Given the description of an element on the screen output the (x, y) to click on. 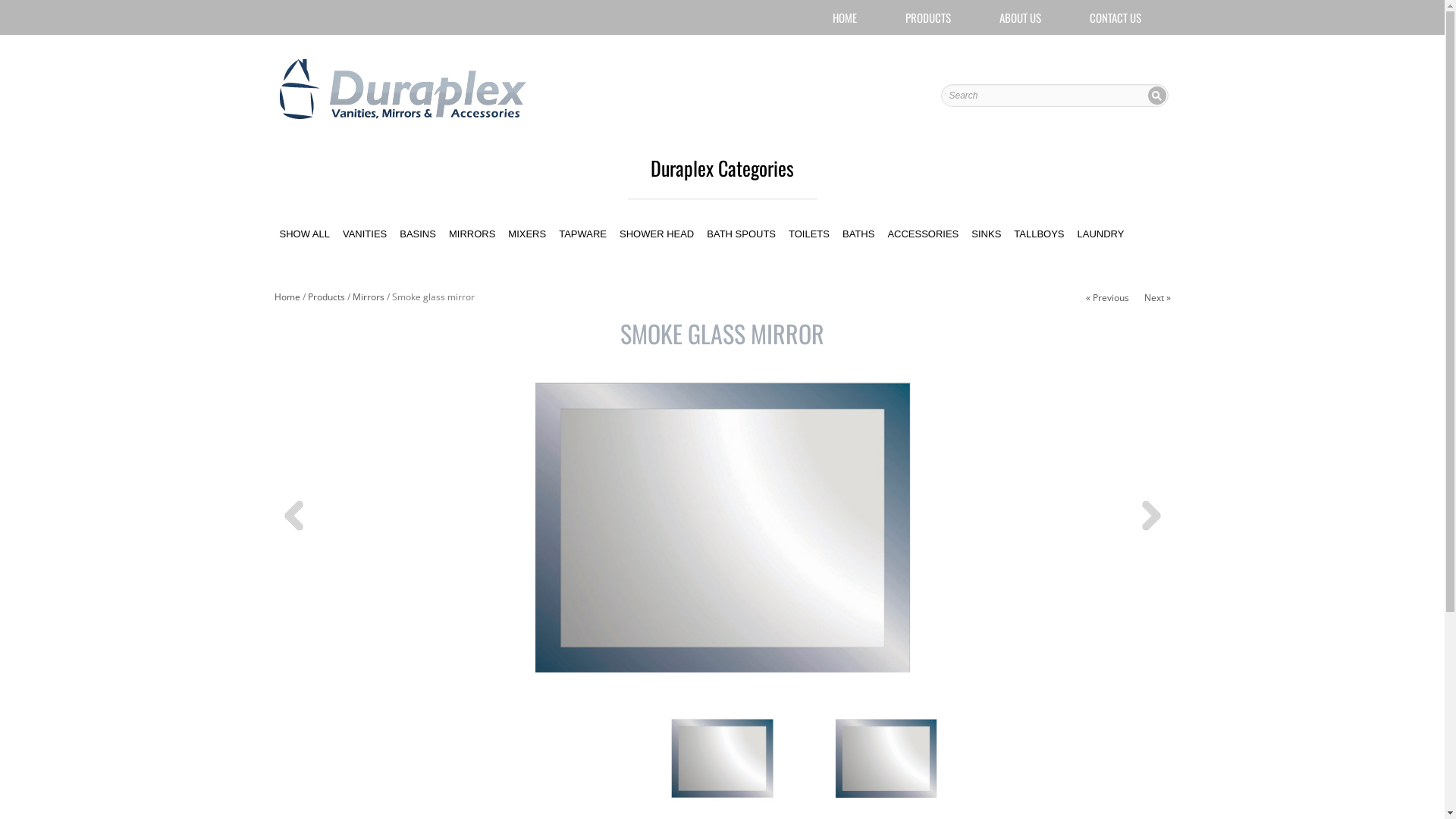
TOILETS Element type: text (808, 232)
ABOUT US Element type: text (1020, 17)
TOILETS Element type: text (808, 233)
SINKS Element type: text (986, 233)
ACCESSORIES Element type: text (922, 232)
MIXERS Element type: text (526, 232)
LAUNDRY Element type: text (1100, 233)
TALLBOYS Element type: text (1038, 232)
TAPWARE Element type: text (582, 232)
BATH SPOUTS Element type: text (741, 233)
MIRRORS Element type: text (471, 232)
TALLBOYS Element type: text (1038, 233)
Home Element type: text (287, 296)
HOME Element type: text (844, 17)
CONTACT US Element type: text (1114, 17)
SHOWER HEAD Element type: text (656, 232)
MIXERS Element type: text (526, 233)
VANITIES Element type: text (364, 232)
Mirrors Element type: text (367, 296)
MIRRORS Element type: text (471, 233)
SHOWER HEAD Element type: text (656, 233)
LAUNDRY Element type: text (1100, 232)
BASINS Element type: text (417, 233)
BASINS Element type: text (417, 232)
BATHS Element type: text (858, 232)
ACCESSORIES Element type: text (922, 233)
Products Element type: text (326, 296)
SHOW ALL Element type: text (304, 232)
VANITIES Element type: text (364, 233)
Search Element type: text (1156, 96)
SHOW ALL Element type: text (304, 233)
BATH SPOUTS Element type: text (741, 232)
TAPWARE Element type: text (582, 233)
BATHS Element type: text (858, 233)
PRODUCTS Element type: text (928, 17)
SINKS Element type: text (986, 232)
